Given the description of an element on the screen output the (x, y) to click on. 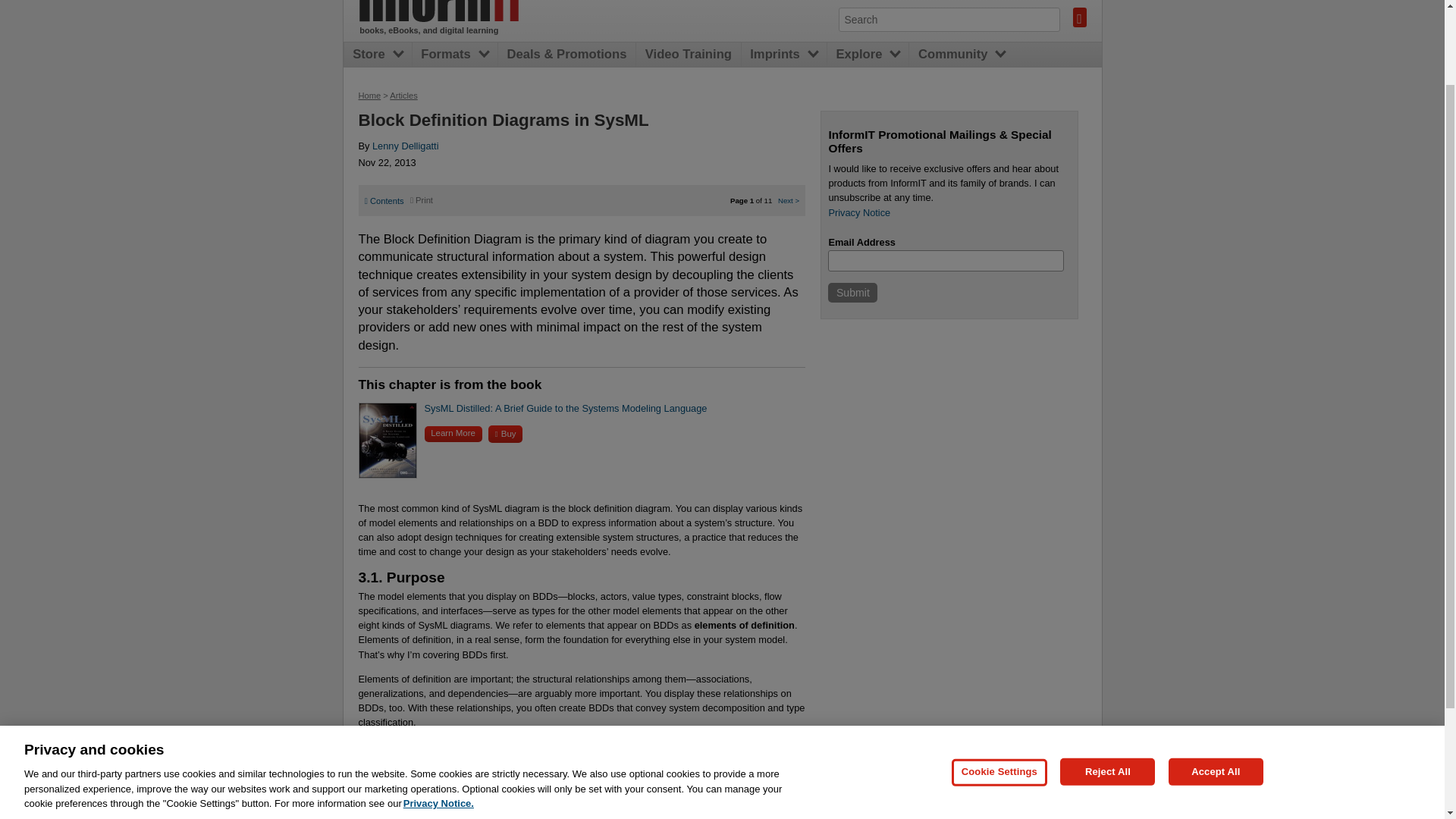
Lenny Delligatti (405, 145)
Submit (852, 292)
Print (421, 199)
Privacy Notice (858, 212)
Home (369, 94)
Learn More (453, 433)
Submit (852, 292)
Home (446, 11)
Articles (403, 94)
